Given the description of an element on the screen output the (x, y) to click on. 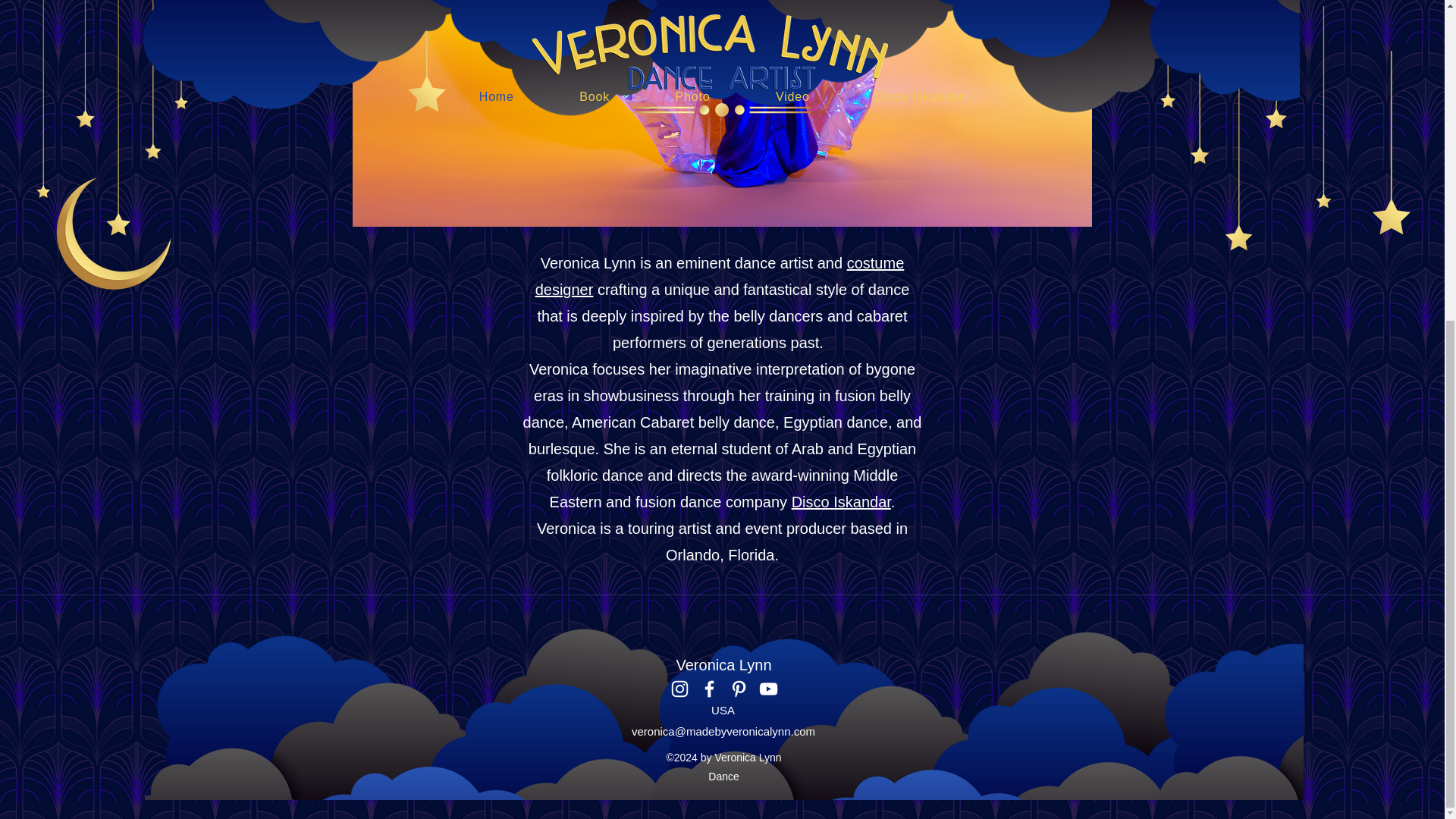
costume designer (719, 276)
Disco Iskandar (841, 501)
